Given the description of an element on the screen output the (x, y) to click on. 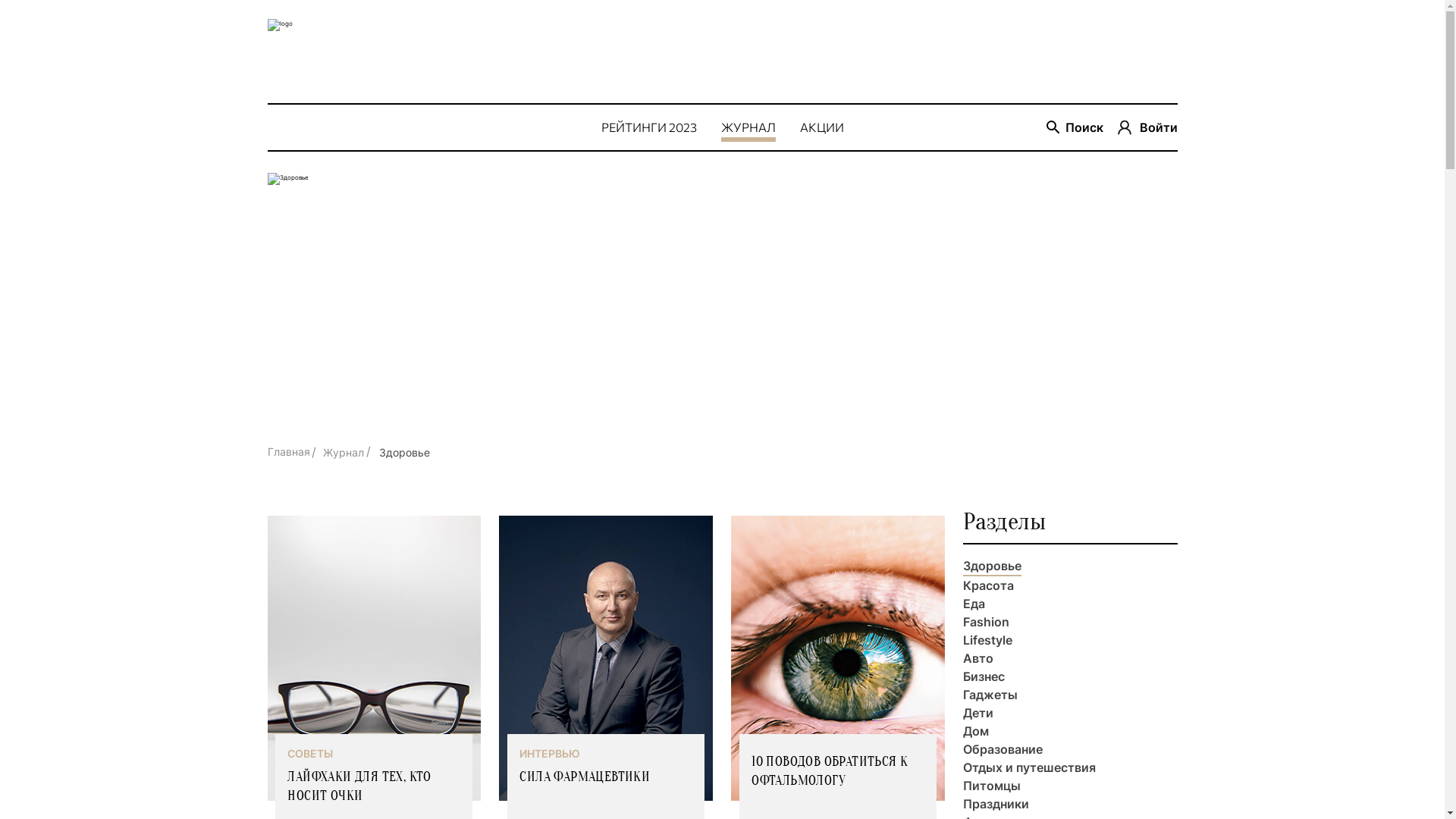
Lifestyle Element type: text (987, 639)
Fashion Element type: text (986, 621)
